Given the description of an element on the screen output the (x, y) to click on. 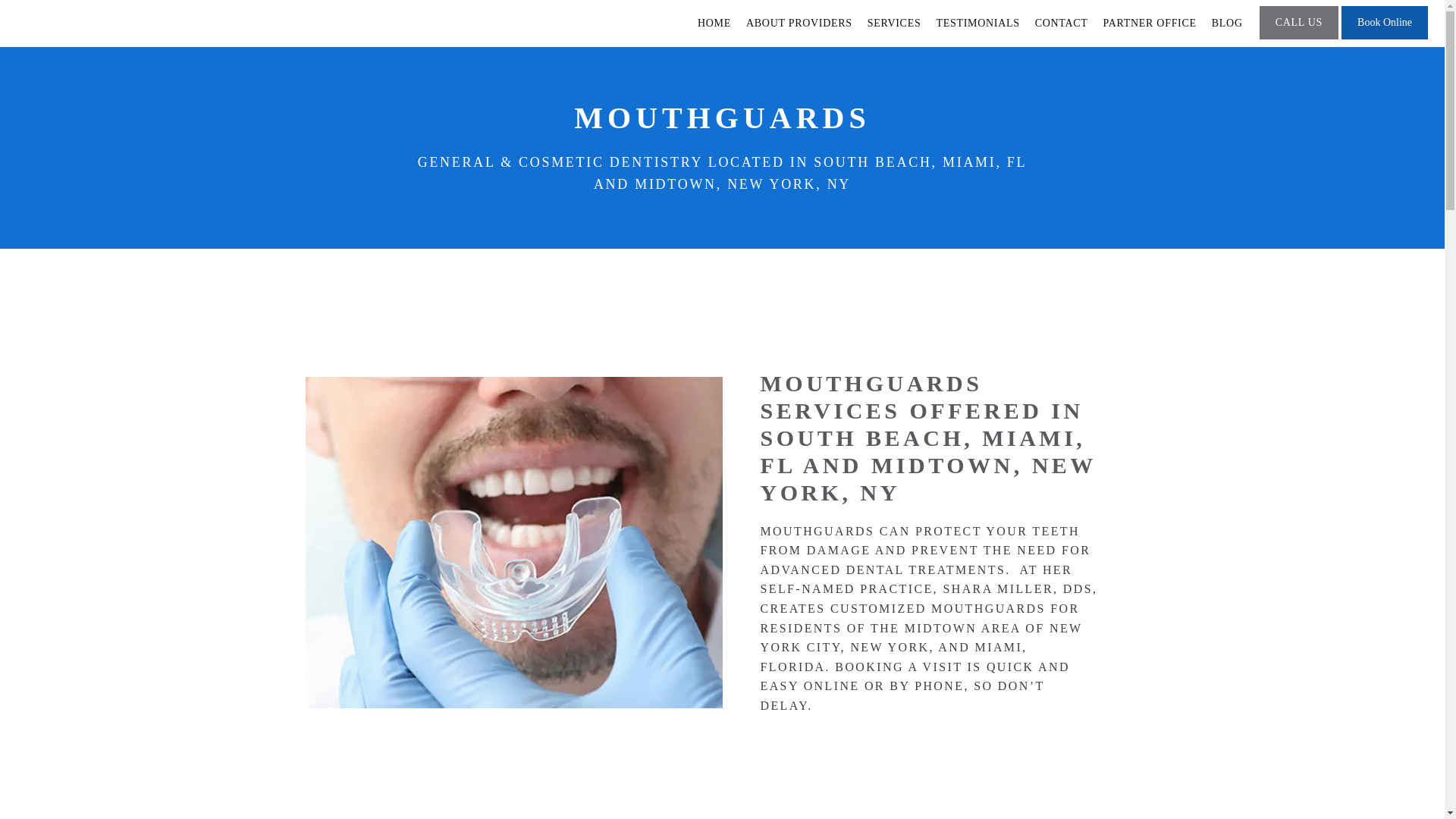
SERVICES (894, 22)
HOME (713, 22)
TESTIMONIALS (977, 22)
CONTACT (1061, 22)
ABOUT PROVIDERS (798, 22)
PARTNER OFFICE (1149, 22)
BLOG (1227, 22)
CALL US (1298, 37)
Book Online (1384, 37)
